Given the description of an element on the screen output the (x, y) to click on. 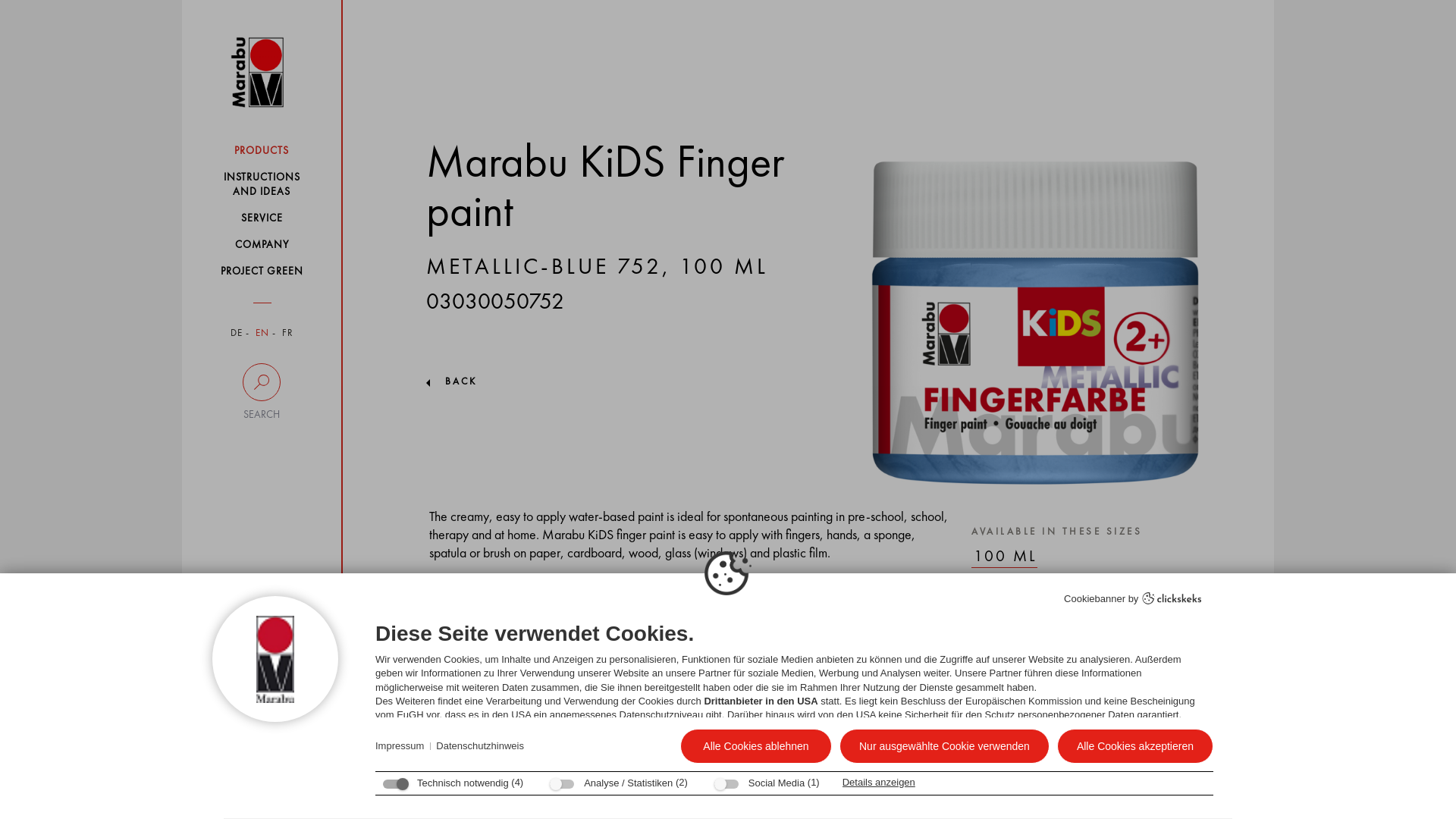
SEARCH (261, 391)
SERVICE (261, 217)
EN (262, 333)
Clickskeks Logo (1171, 598)
DE (236, 333)
COMPANY (261, 243)
FR (288, 333)
Clickskeks (1171, 600)
PRODUCTS (261, 150)
100 ML (1003, 556)
